Given the description of an element on the screen output the (x, y) to click on. 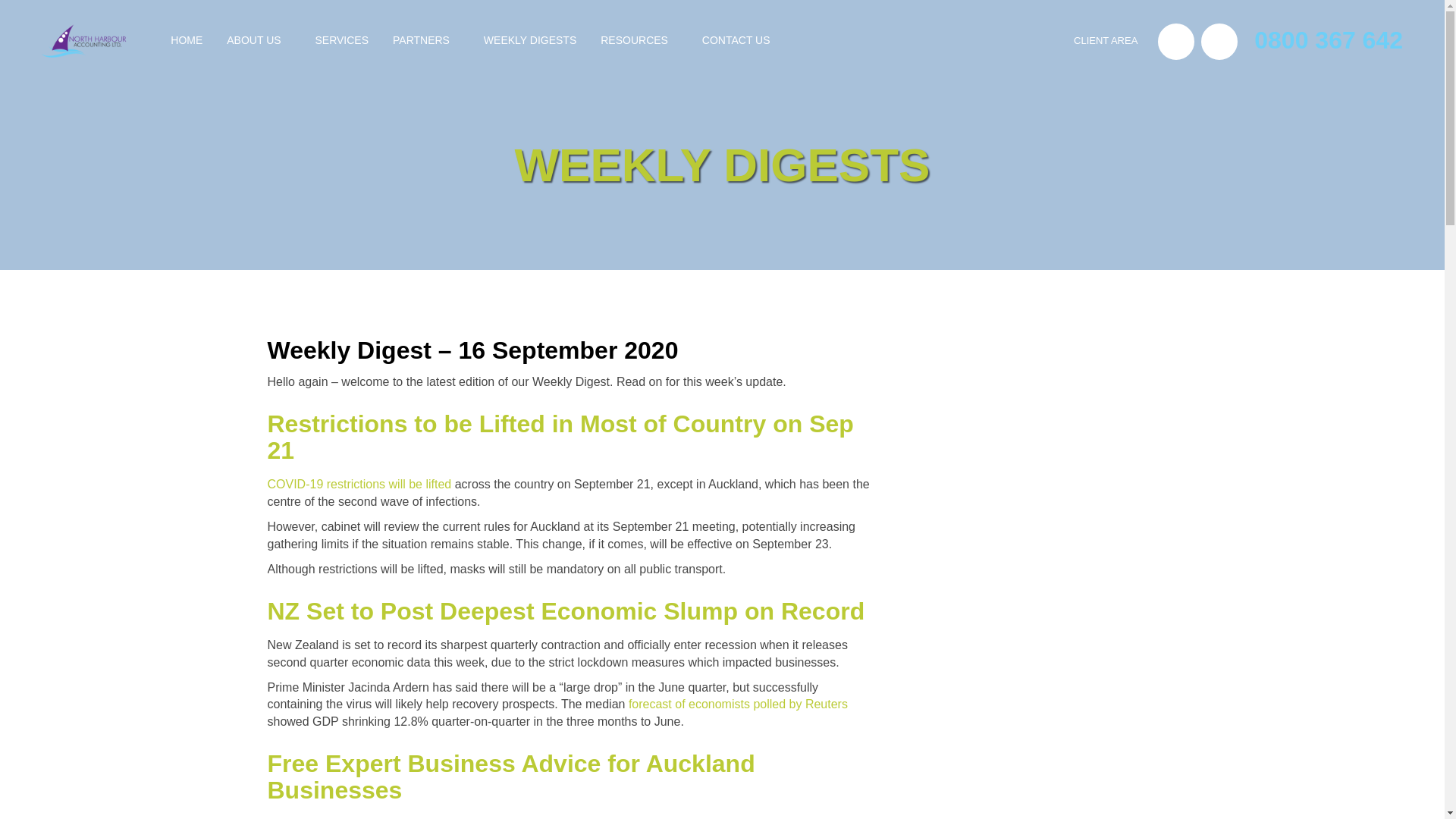
Services (341, 40)
CLIENT AREA (1111, 41)
WEEKLY DIGESTS (529, 40)
CONTACT US (736, 40)
About us (258, 40)
ABOUT US  (258, 40)
RESOURCES  (639, 40)
Home (186, 40)
0800 367 642 (1328, 40)
HOME (186, 40)
